Given the description of an element on the screen output the (x, y) to click on. 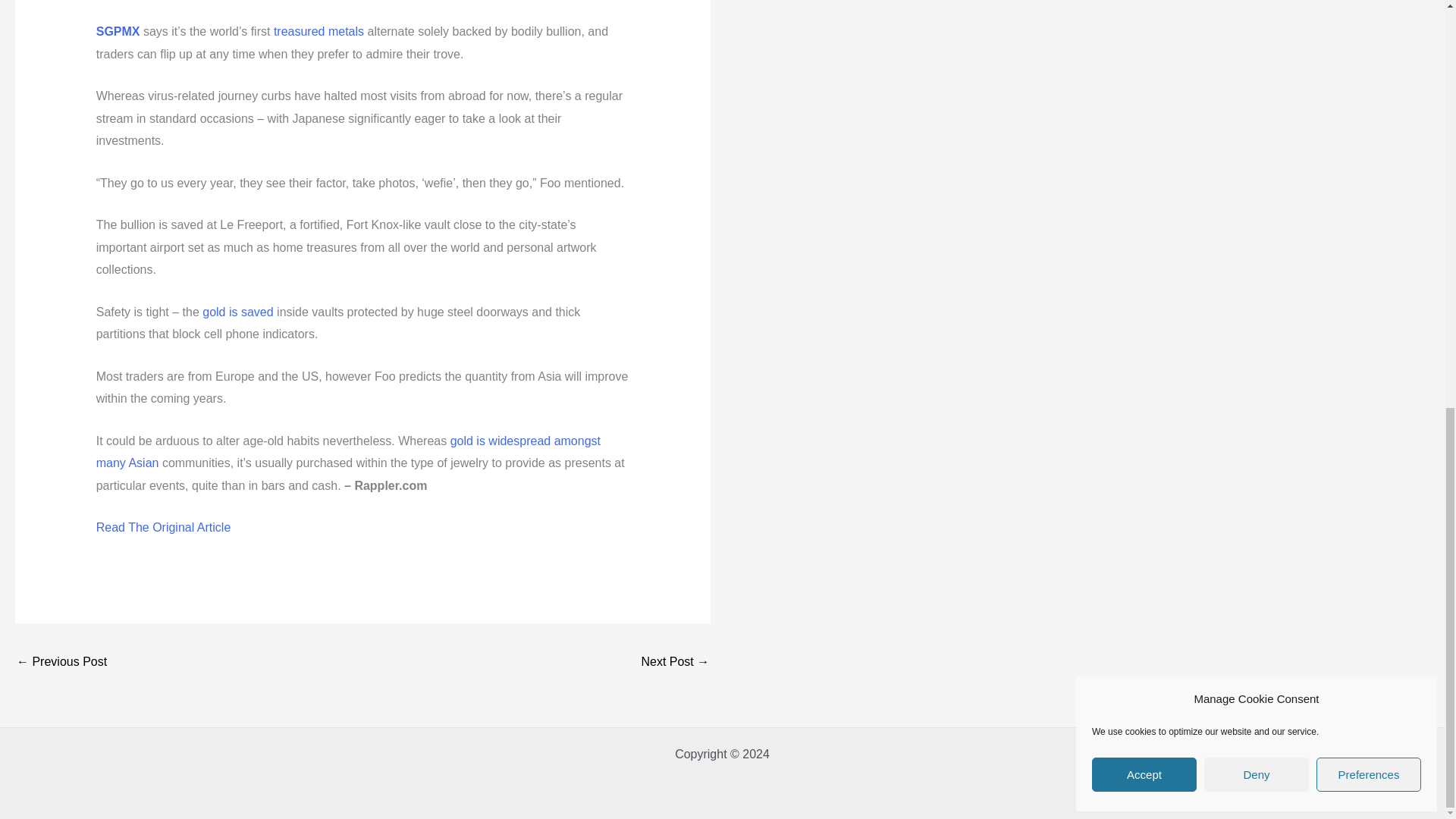
gold is saved (237, 311)
SGPMX (117, 31)
Read The Original Article (163, 526)
gold is widespread amongst many Asian (347, 452)
Singapore exchange touts gold to the masses (674, 663)
treasured metals (318, 31)
